Given the description of an element on the screen output the (x, y) to click on. 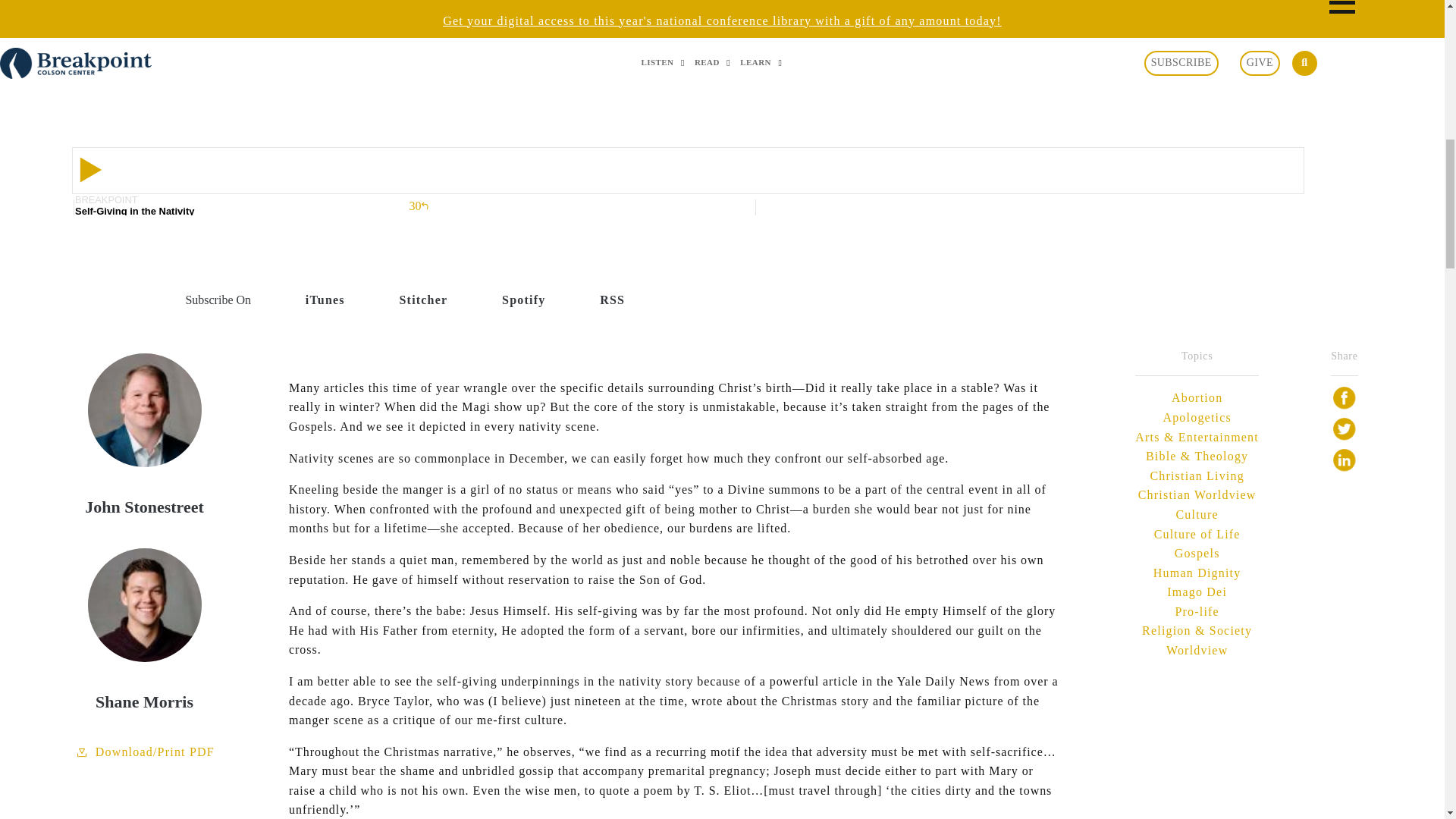
Posts by John Stonestreet (722, 8)
Posts by Shane Morris (722, 29)
